Given the description of an element on the screen output the (x, y) to click on. 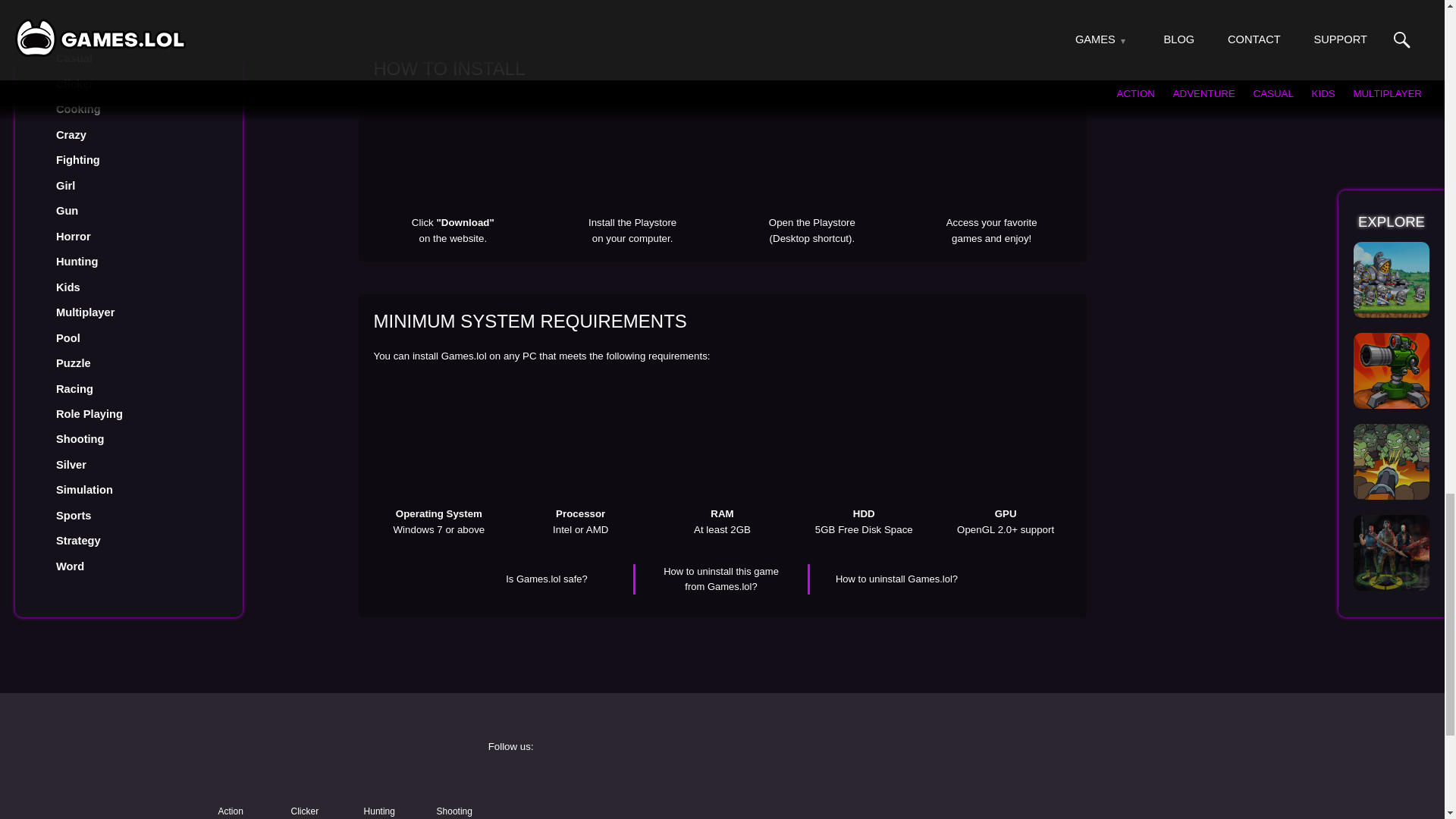
Facebook (603, 782)
Instagram (838, 782)
Games.lol free game download website logo (319, 760)
Discord (838, 810)
YouTube (603, 810)
Pinterest (1073, 810)
Twitter (1073, 782)
